Given the description of an element on the screen output the (x, y) to click on. 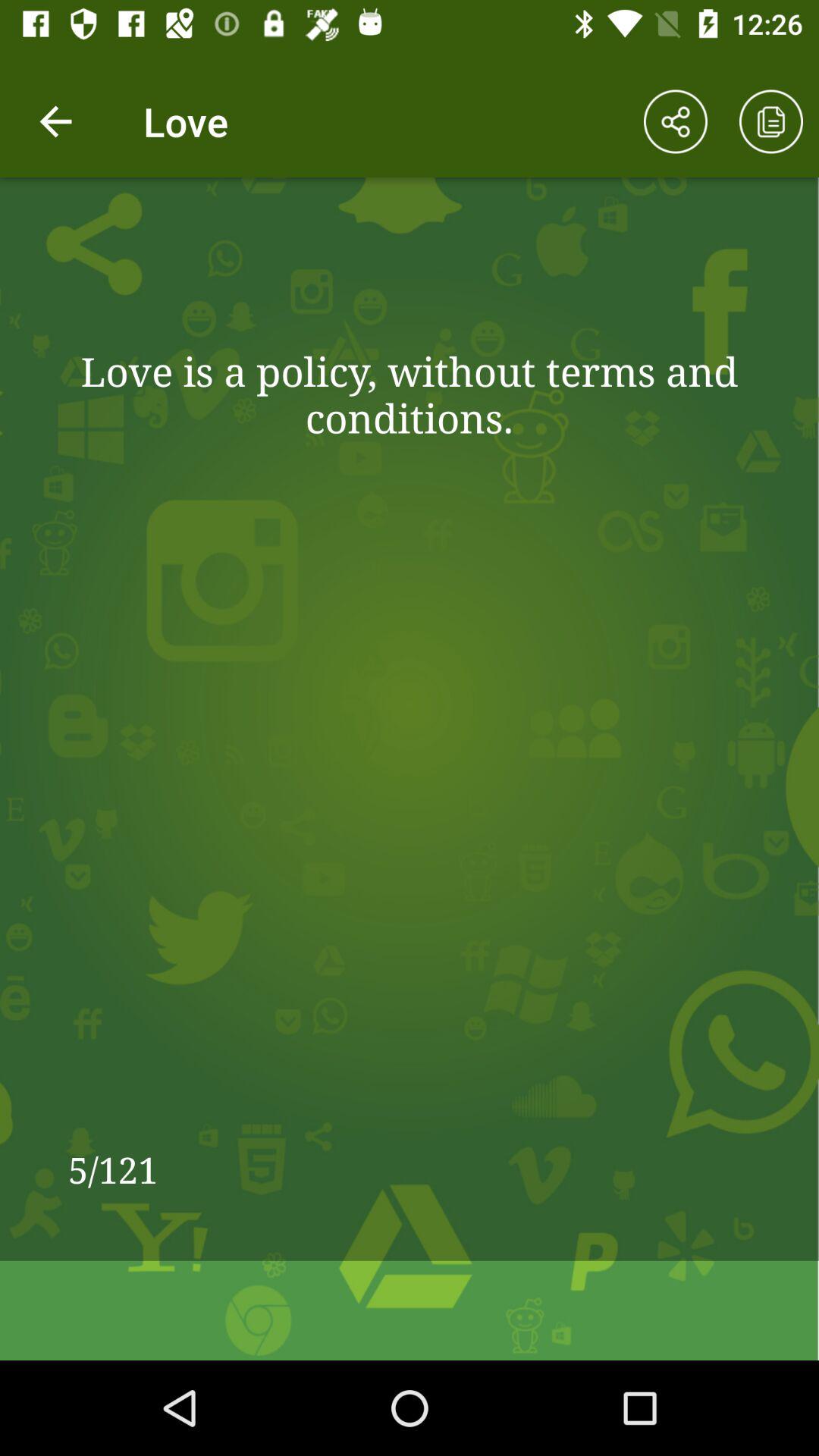
share (675, 121)
